Given the description of an element on the screen output the (x, y) to click on. 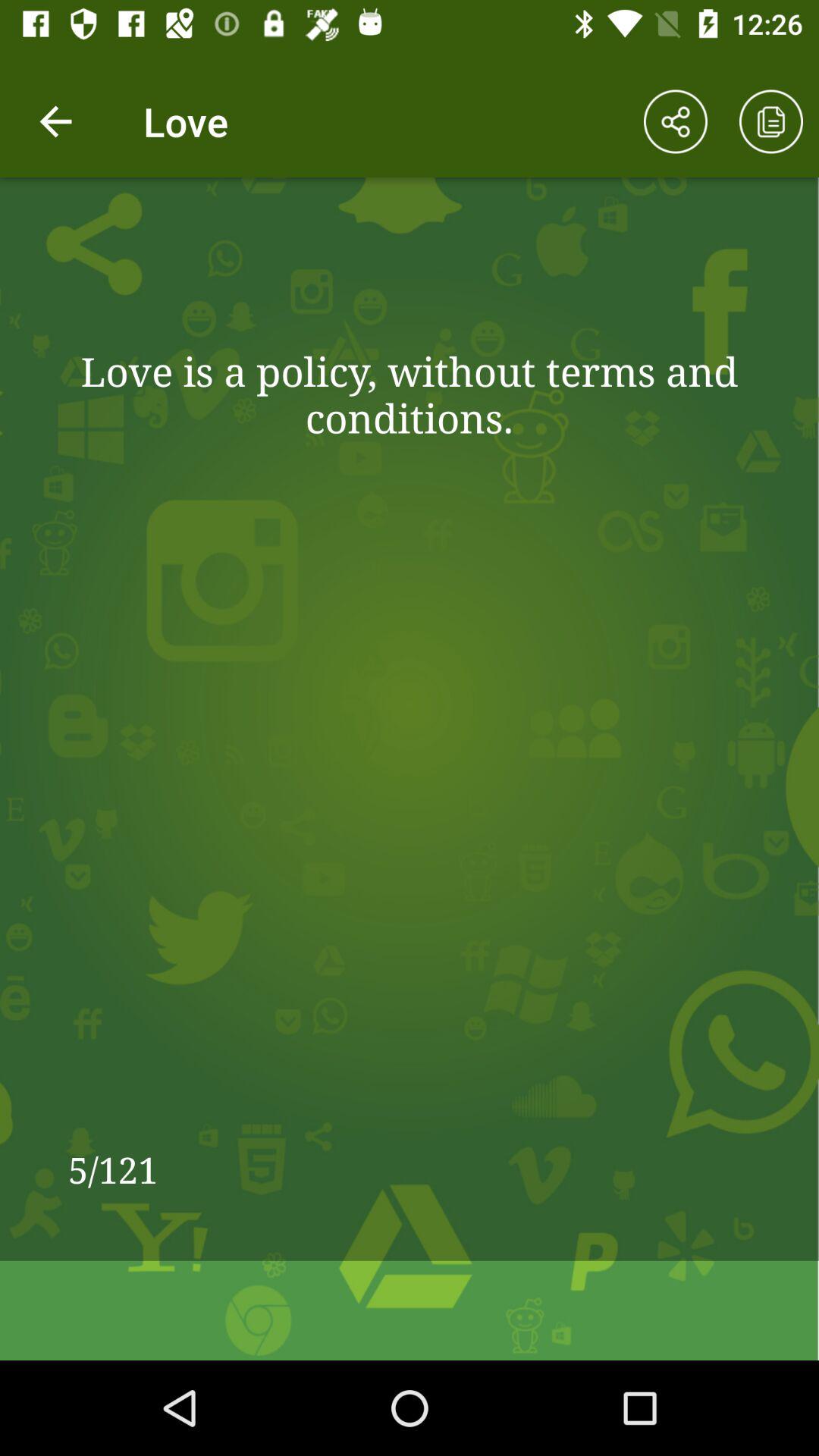
share (675, 121)
